Given the description of an element on the screen output the (x, y) to click on. 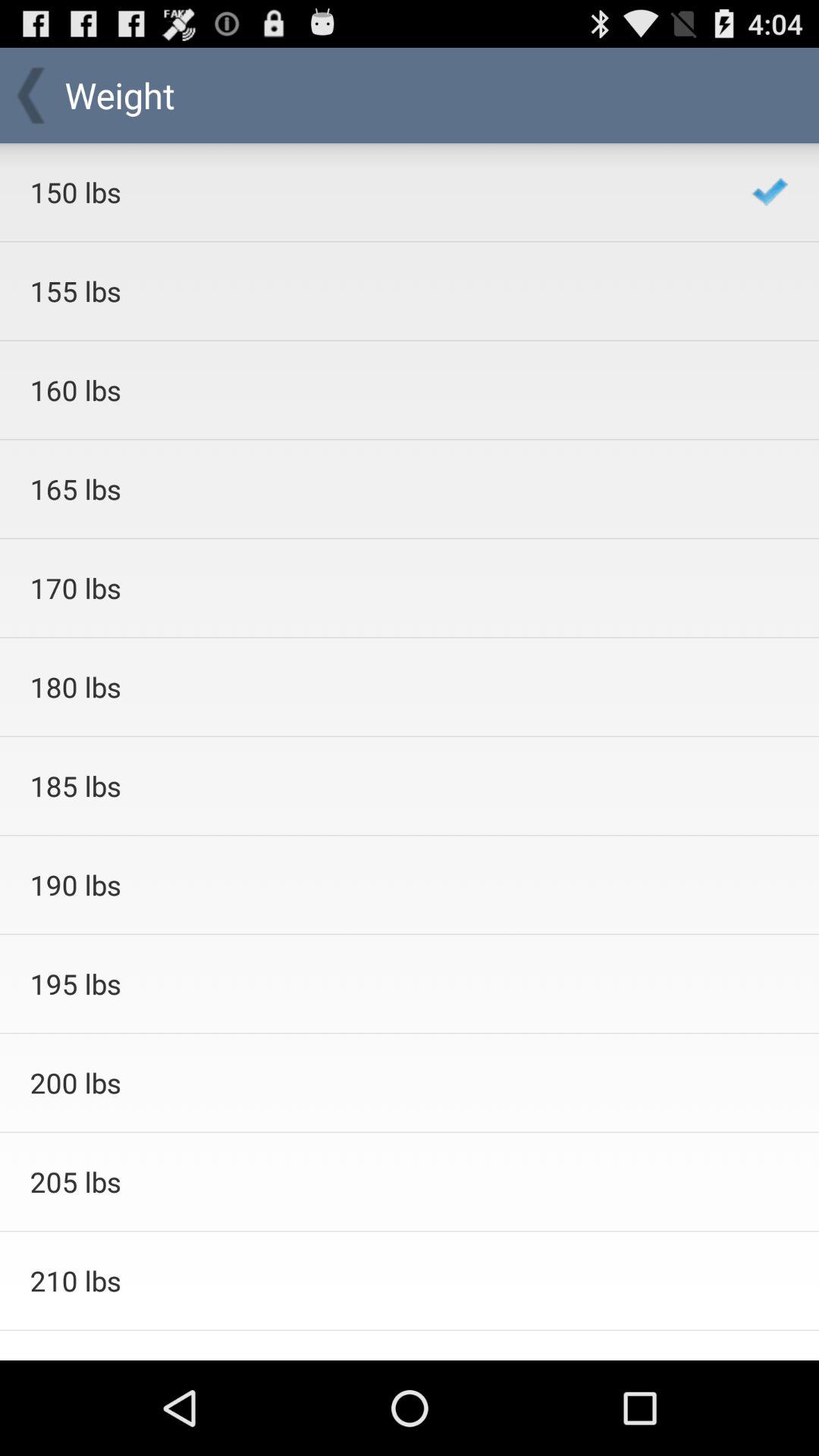
tap item above 160 lbs (371, 290)
